Given the description of an element on the screen output the (x, y) to click on. 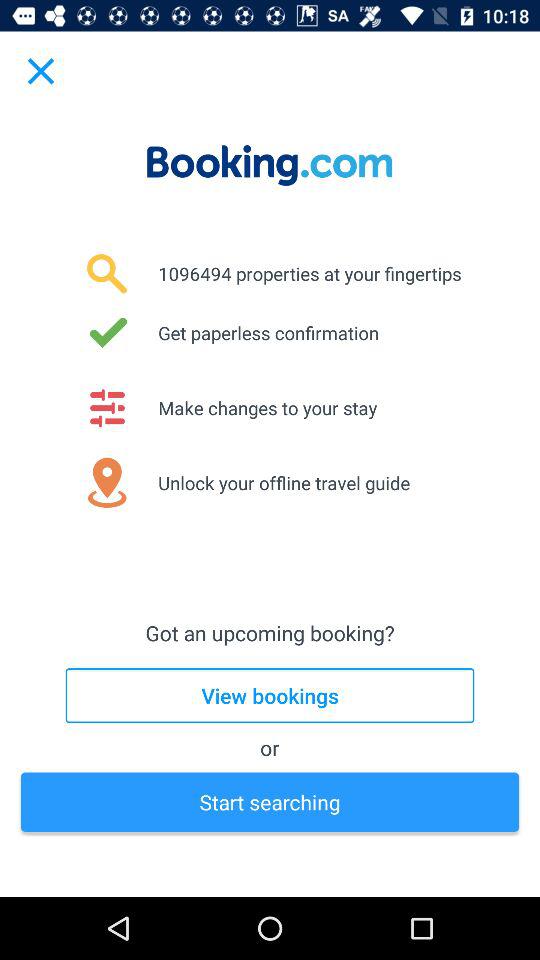
tap view bookings (269, 695)
